Given the description of an element on the screen output the (x, y) to click on. 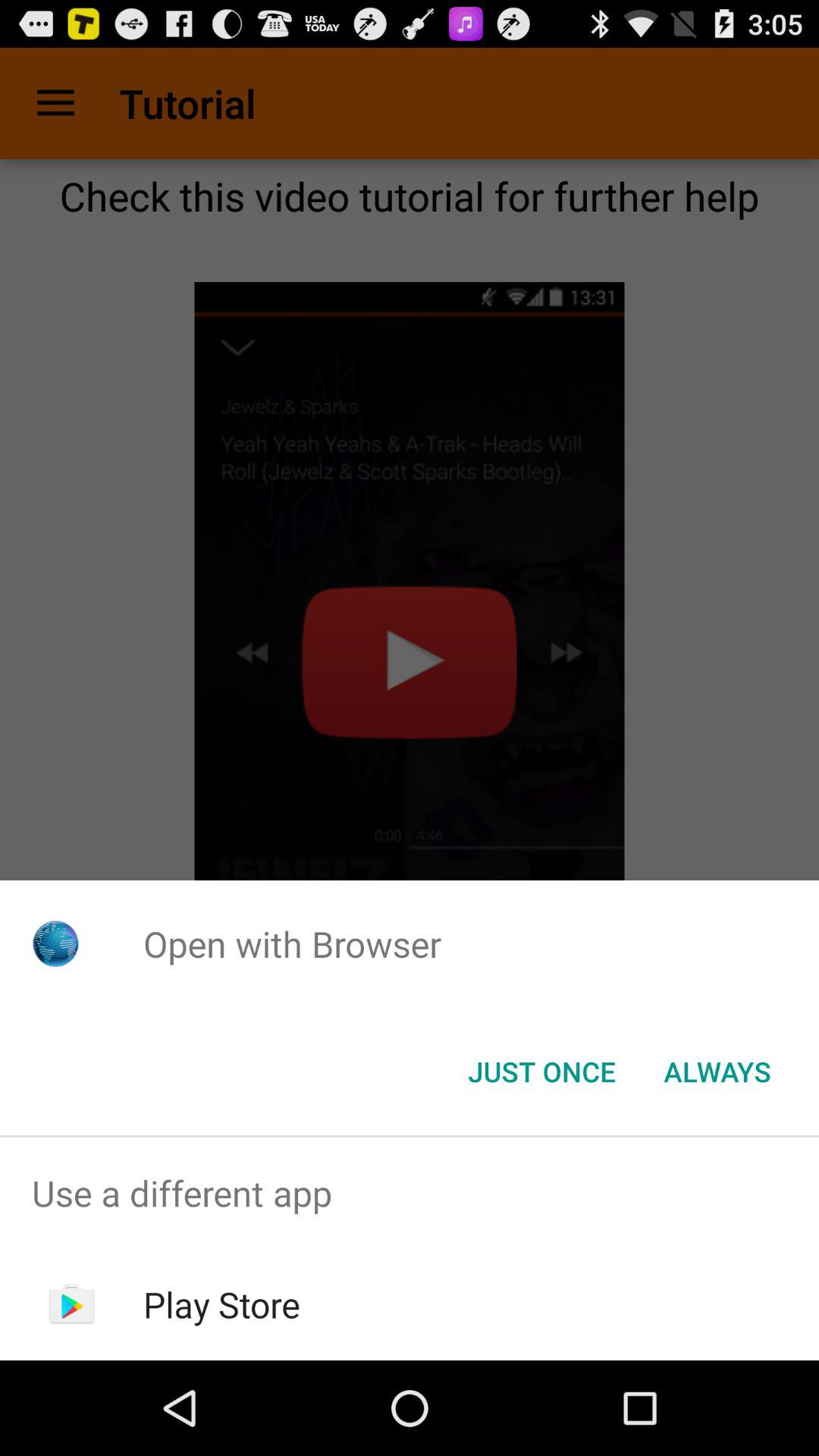
select the always (717, 1071)
